Given the description of an element on the screen output the (x, y) to click on. 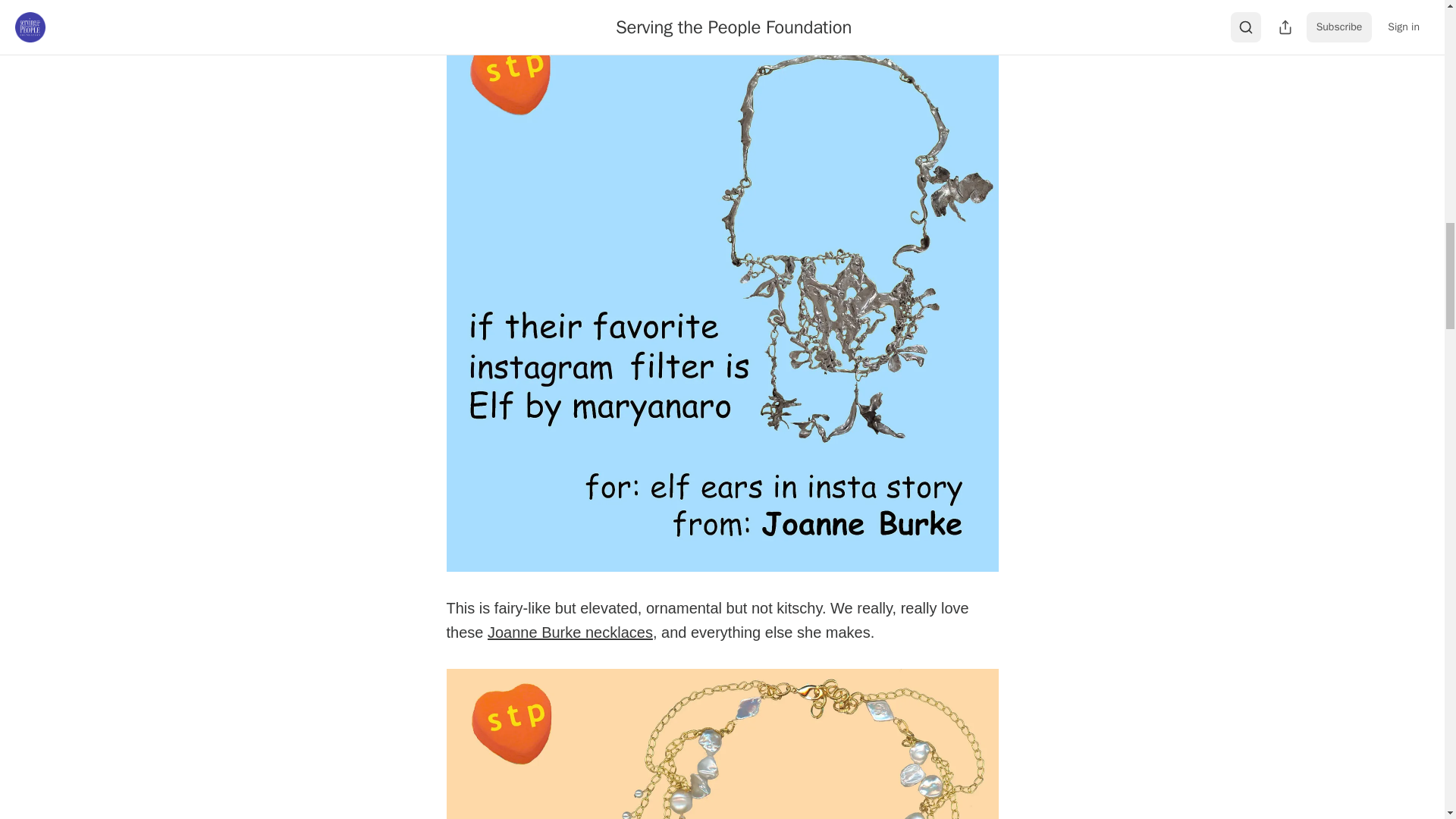
Joanne Burke necklaces (569, 632)
